Given the description of an element on the screen output the (x, y) to click on. 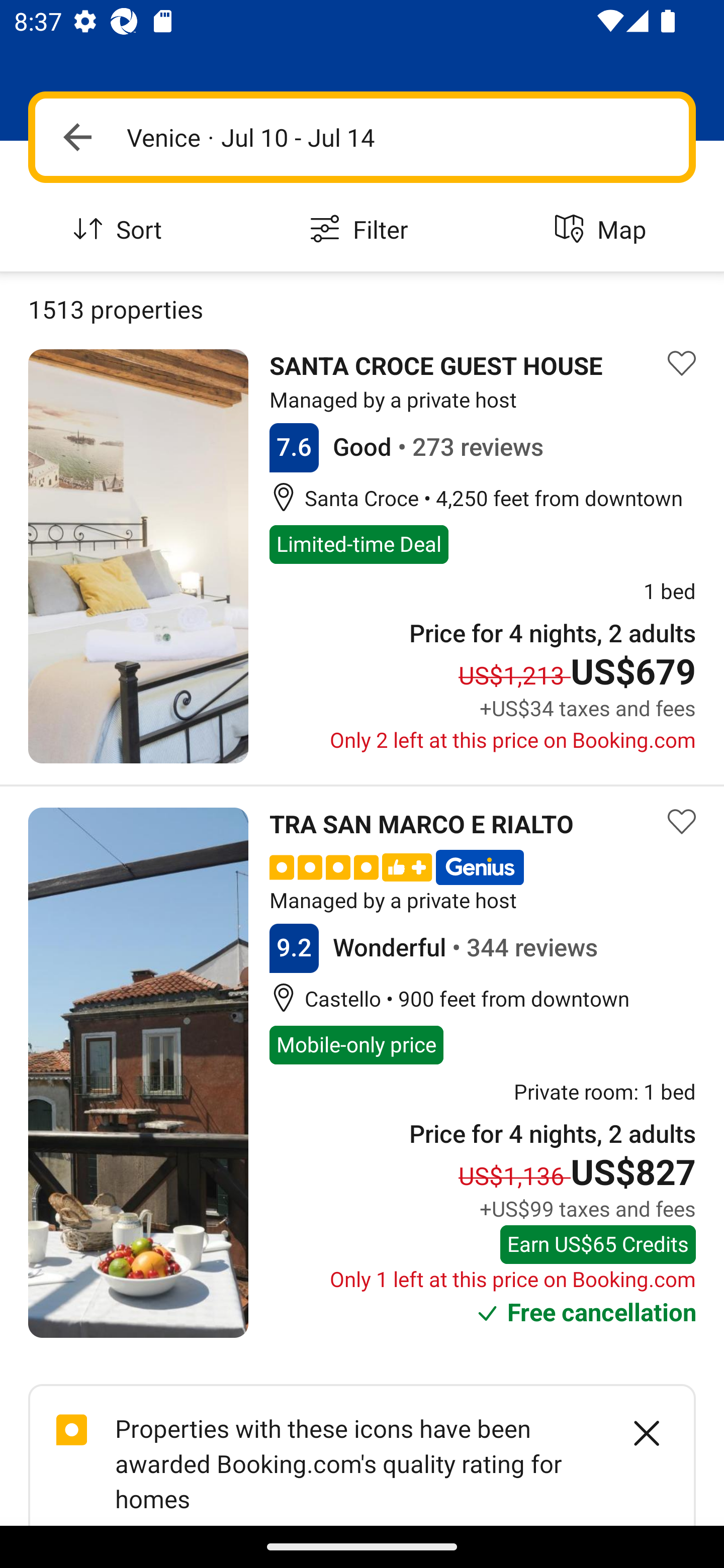
Navigate up Venice · Jul 10 - Jul 14 (362, 136)
Navigate up (77, 136)
Sort (120, 230)
Filter (361, 230)
Map (603, 230)
Save property to list (681, 363)
Save property to list (681, 821)
Clear (635, 1432)
